Given the description of an element on the screen output the (x, y) to click on. 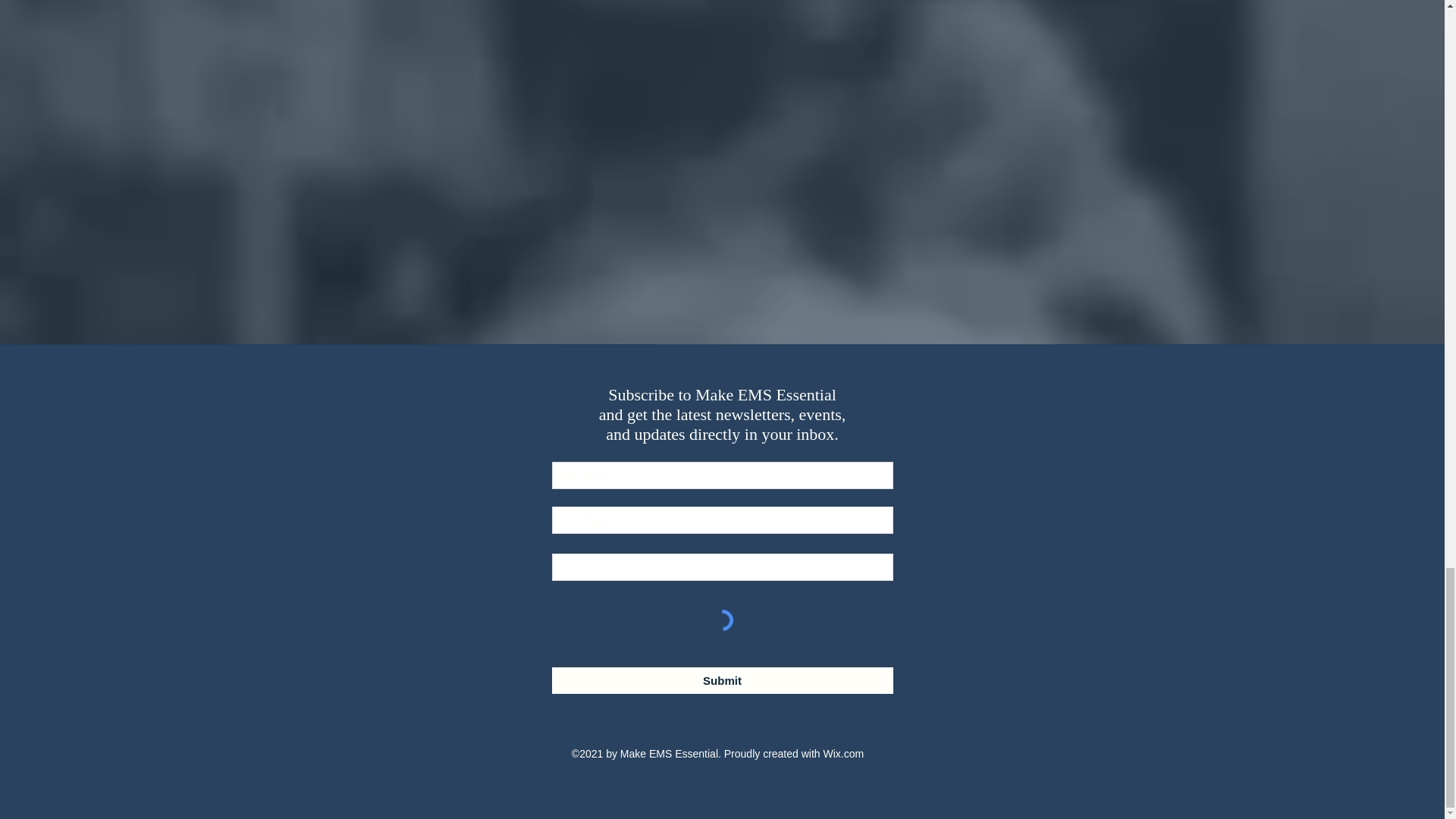
Submit (722, 680)
